Given the description of an element on the screen output the (x, y) to click on. 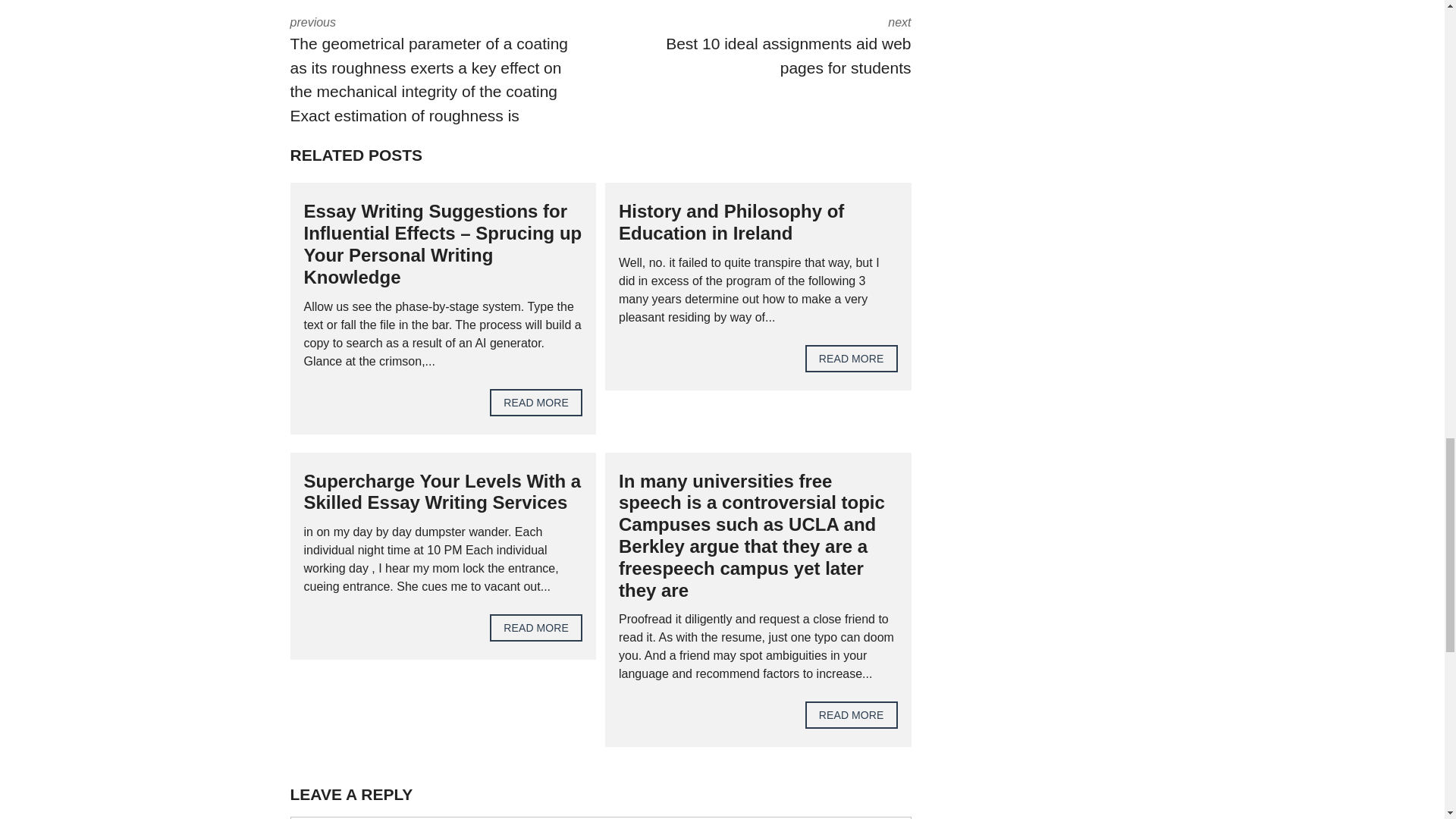
History and Philosophy of Education in Ireland (851, 358)
History and Philosophy of Education in Ireland (731, 221)
READ MORE (767, 47)
READ MORE (535, 627)
